Given the description of an element on the screen output the (x, y) to click on. 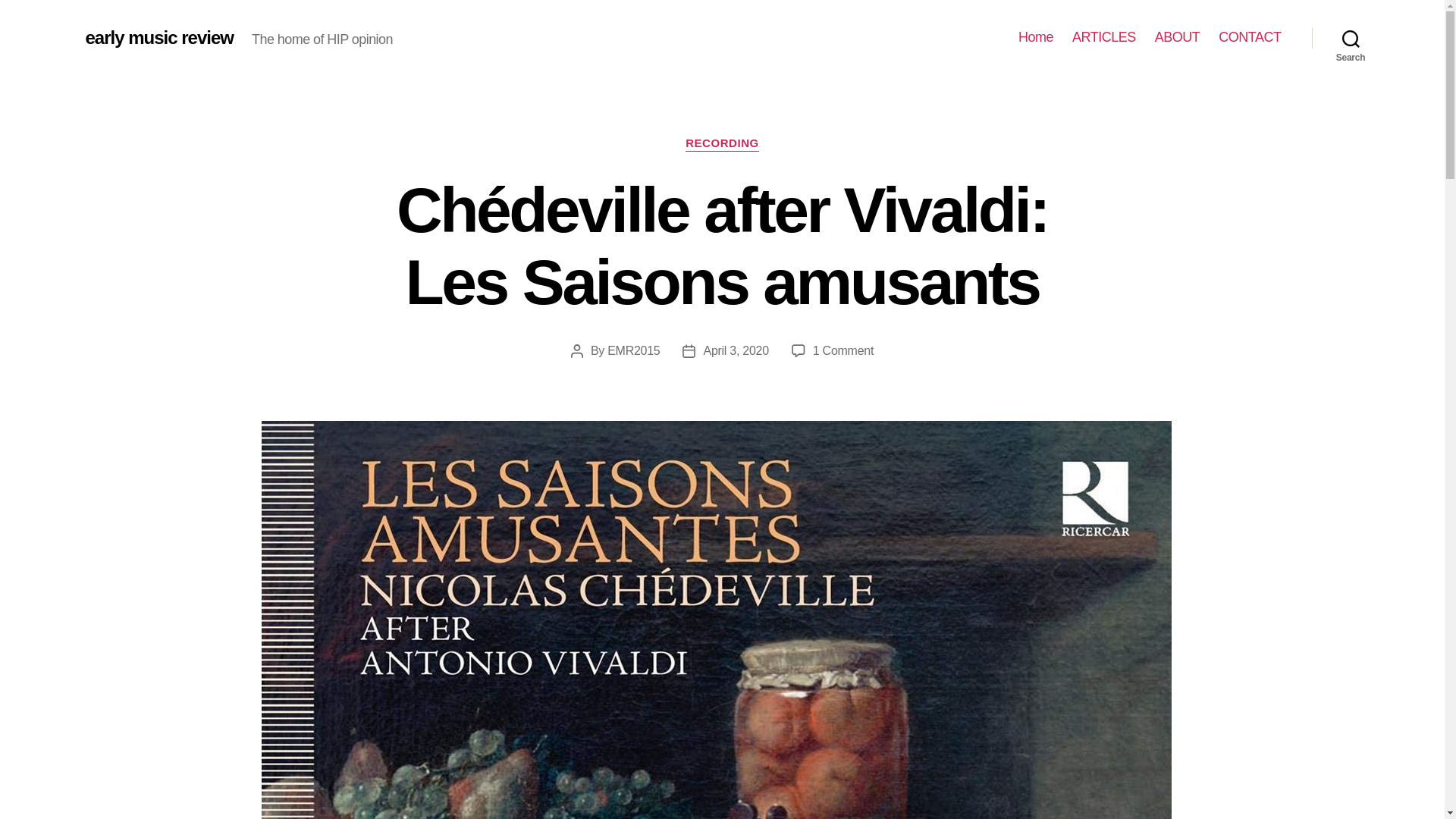
Search (1350, 37)
EMR2015 (633, 350)
CONTACT (1249, 37)
ARTICLES (1103, 37)
ABOUT (1176, 37)
RECORDING (721, 143)
April 3, 2020 (735, 350)
Home (1034, 37)
early music review (158, 37)
